Given the description of an element on the screen output the (x, y) to click on. 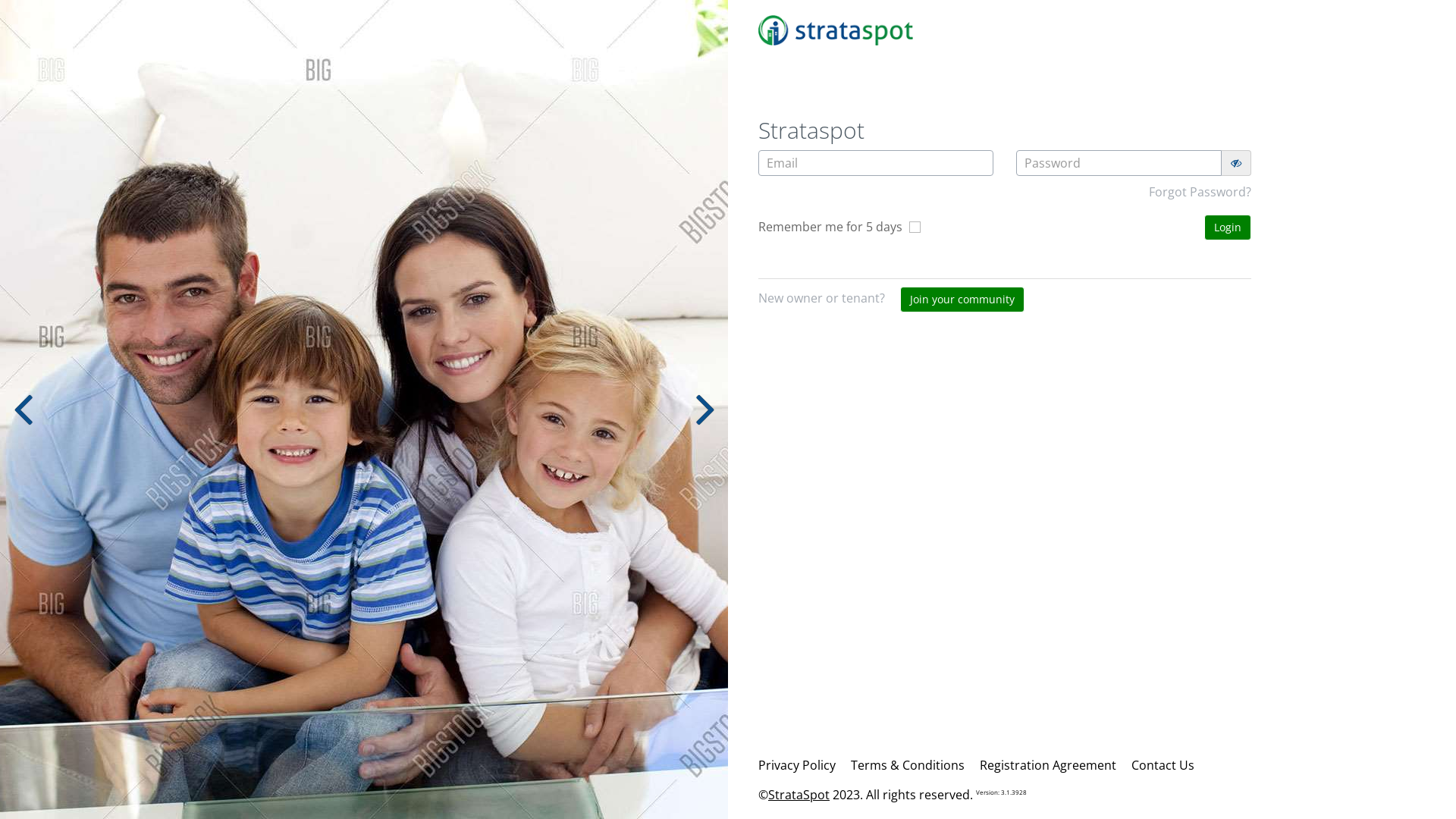
Forgot Password? Element type: text (1199, 191)
Terms & Conditions Element type: text (907, 764)
Login Element type: text (1227, 227)
Contact Us Element type: text (1162, 764)
Registration Agreement Element type: text (1047, 764)
Join your community Element type: text (962, 299)
StrataSpot Element type: text (798, 794)
Privacy Policy Element type: text (796, 764)
